Given the description of an element on the screen output the (x, y) to click on. 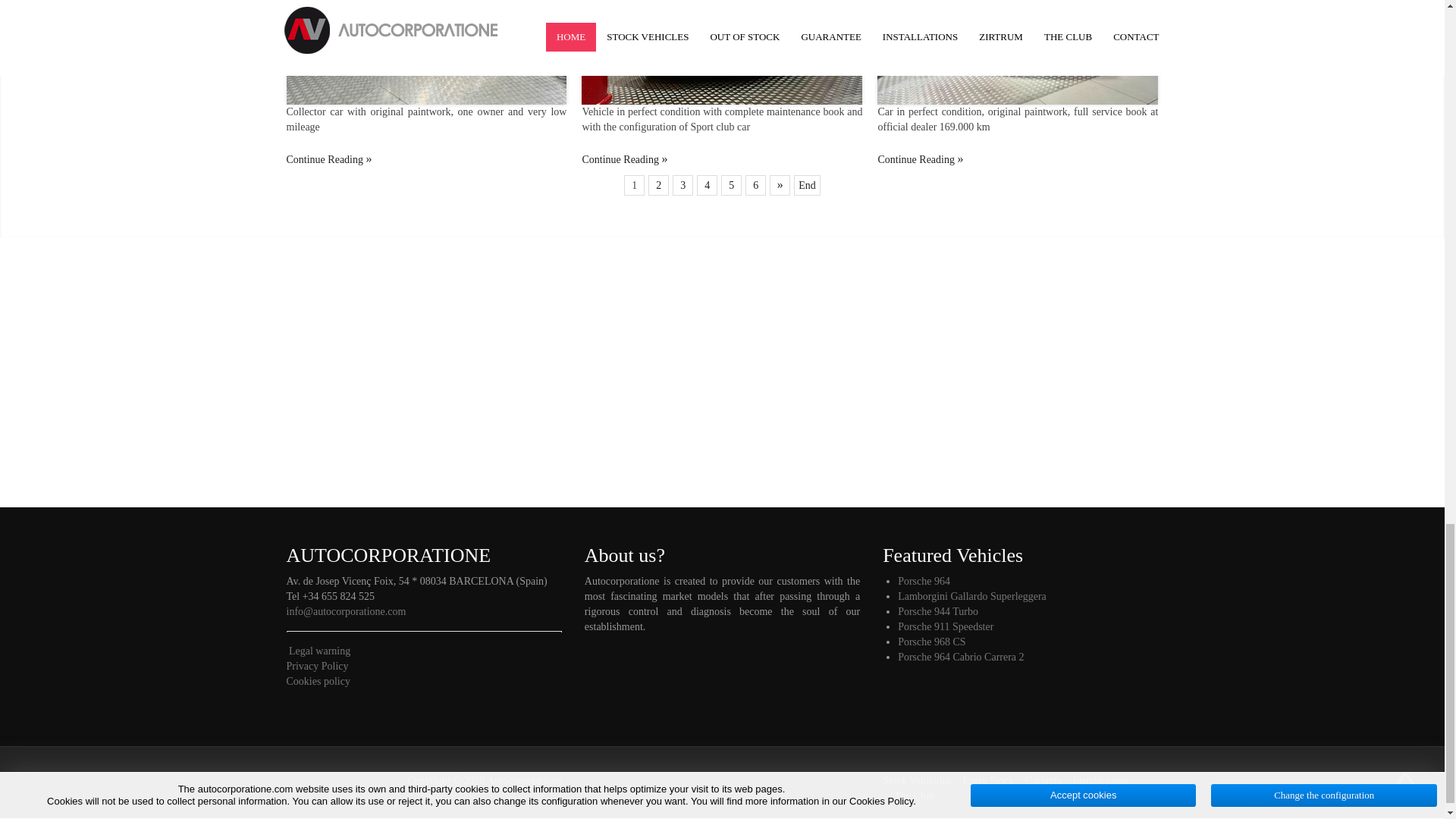
Continue Reading (329, 159)
Porsche 968 CS  (623, 159)
Porsche 911 Speedster (329, 159)
